Given the description of an element on the screen output the (x, y) to click on. 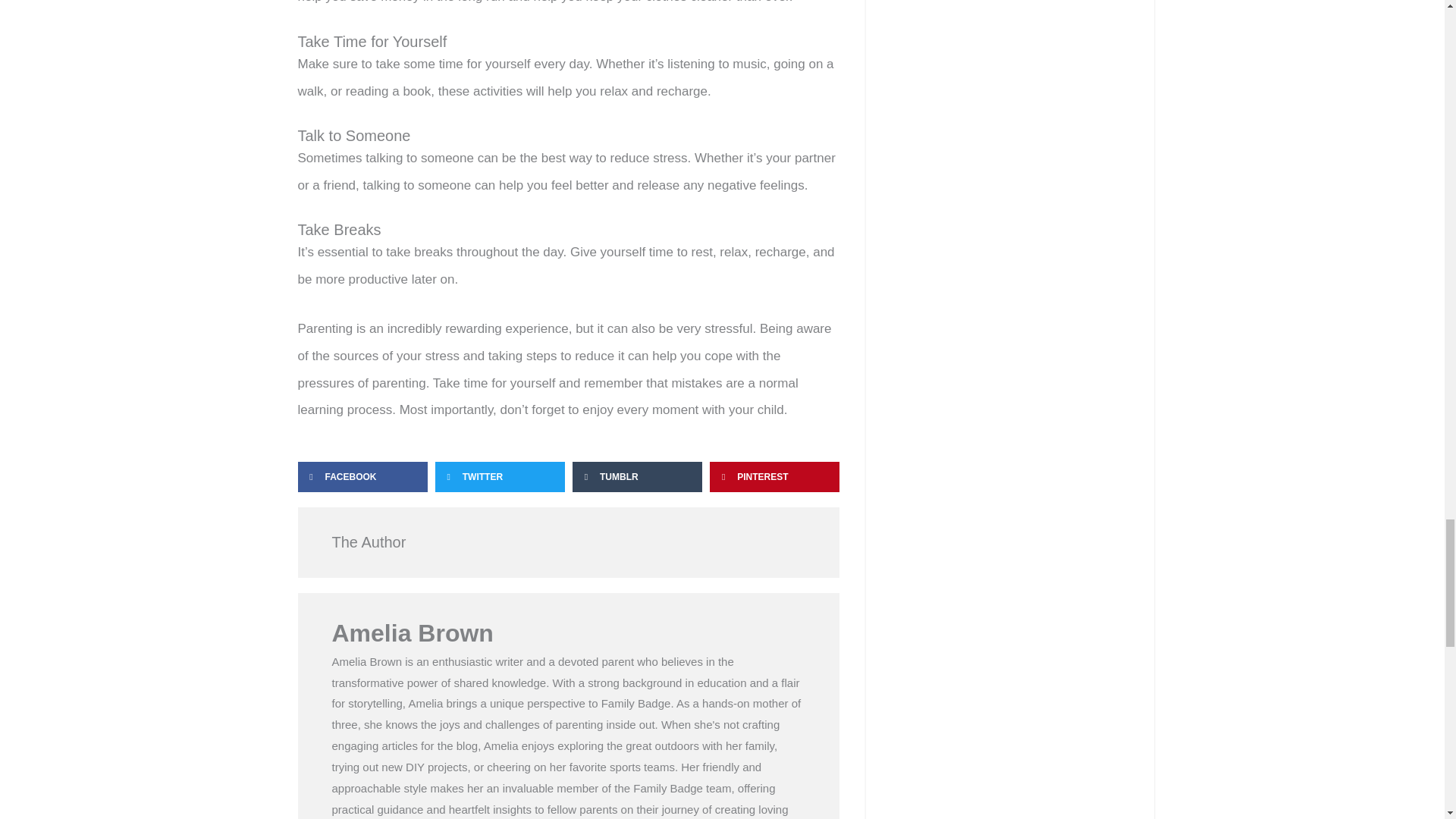
Amelia Brown (568, 633)
